Given the description of an element on the screen output the (x, y) to click on. 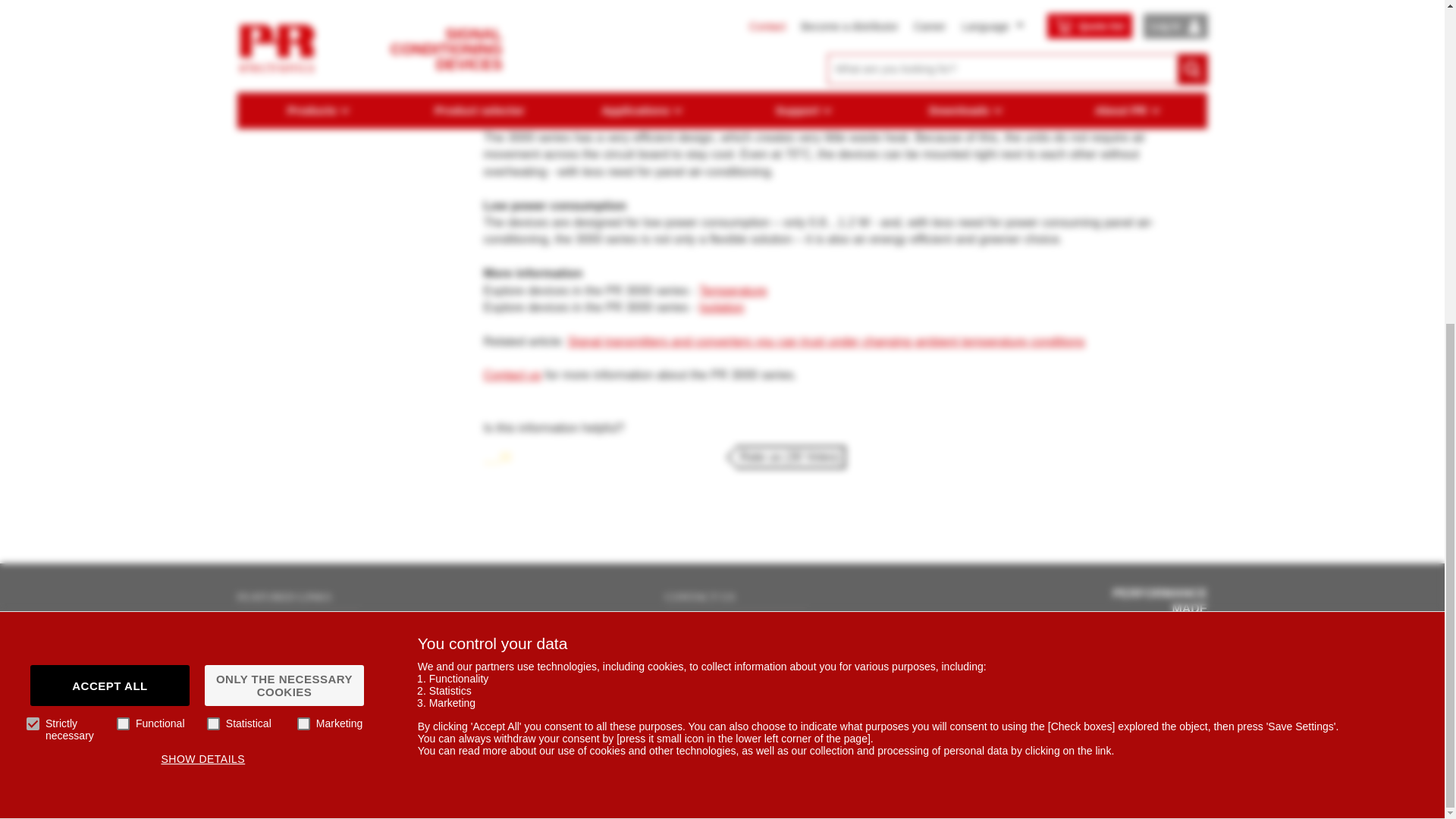
PR Electronics (462, 519)
.AspNetCore.Antiforgeryxxx (1157, 420)
www.prelectronics.com (1331, 469)
www.prelectronics.com (1331, 420)
Microsoft (462, 370)
Used to put products into the cart. (636, 519)
Session (983, 420)
ABOUT COOKIES (270, 311)
ONLY THE NECESSARY COOKIES (284, 156)
COOKIE POLICY (90, 311)
a year (983, 469)
Cookie Information (462, 469)
Required for the website to perform properly. (636, 370)
Supports the website's technical functions. (636, 469)
SM (1157, 370)
